Given the description of an element on the screen output the (x, y) to click on. 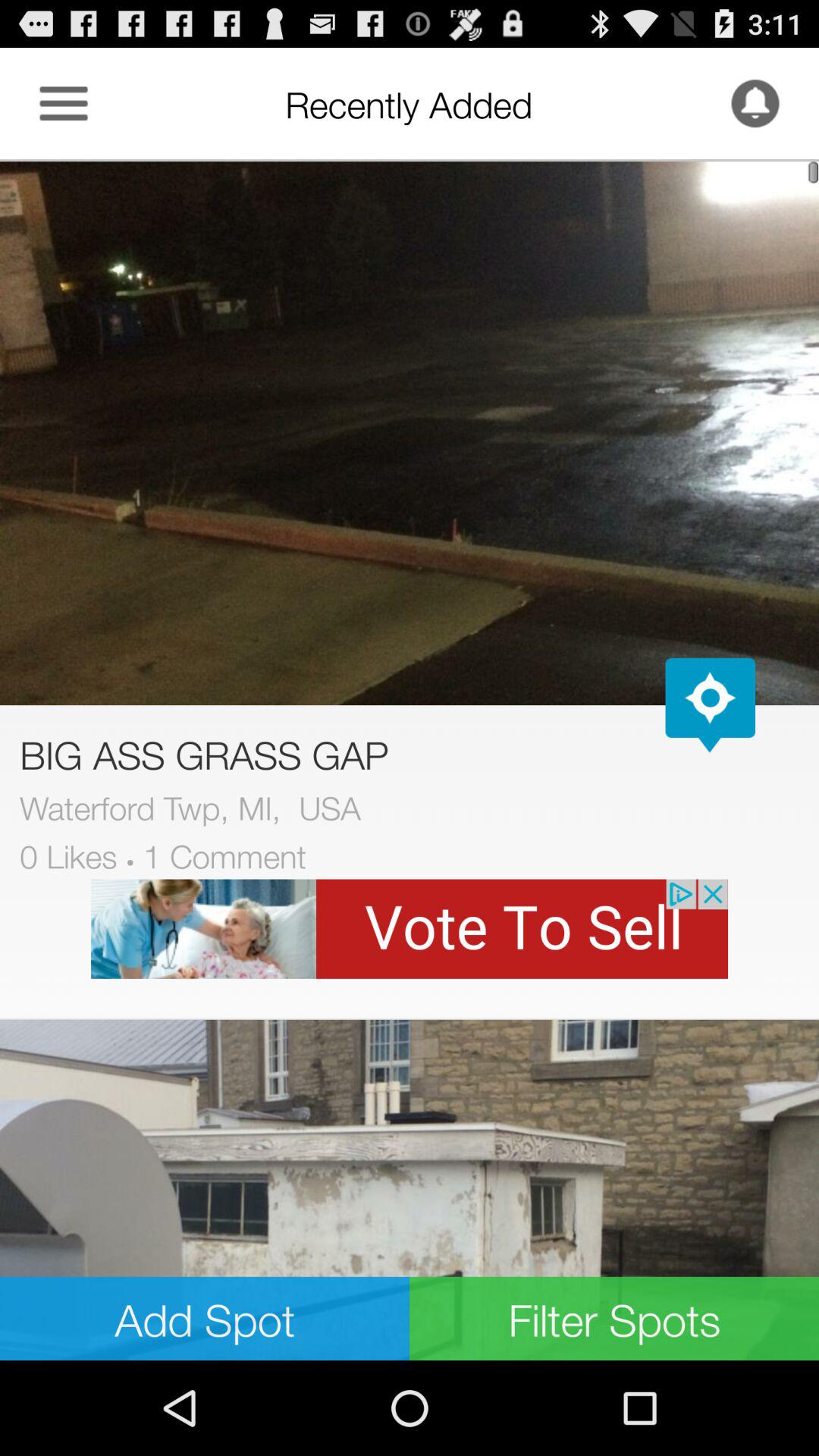
open menu (63, 103)
